Given the description of an element on the screen output the (x, y) to click on. 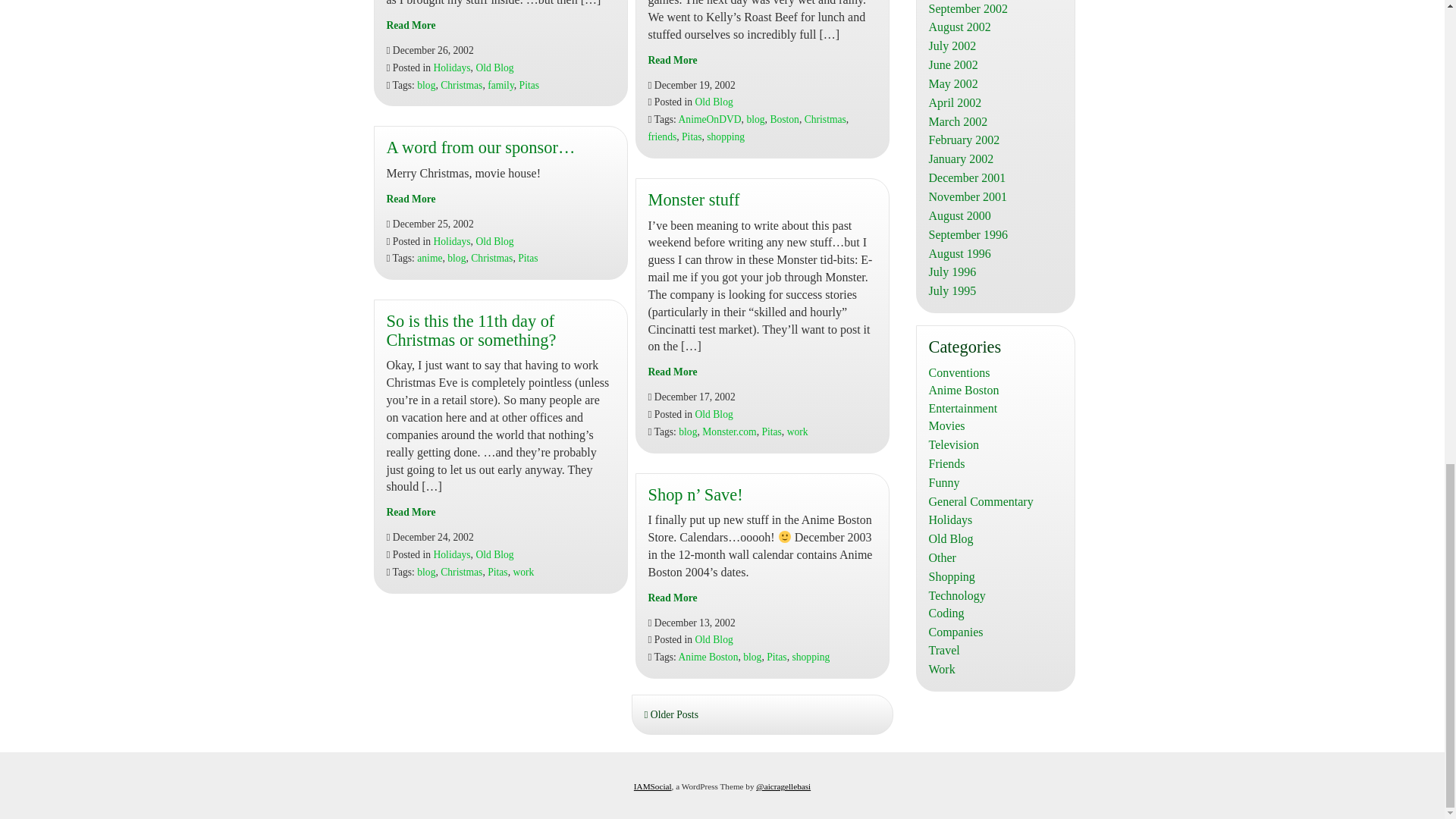
I just wanna go home. (411, 25)
Read More (411, 25)
blog (425, 84)
Old Blog (494, 67)
Holidays (451, 67)
